Given the description of an element on the screen output the (x, y) to click on. 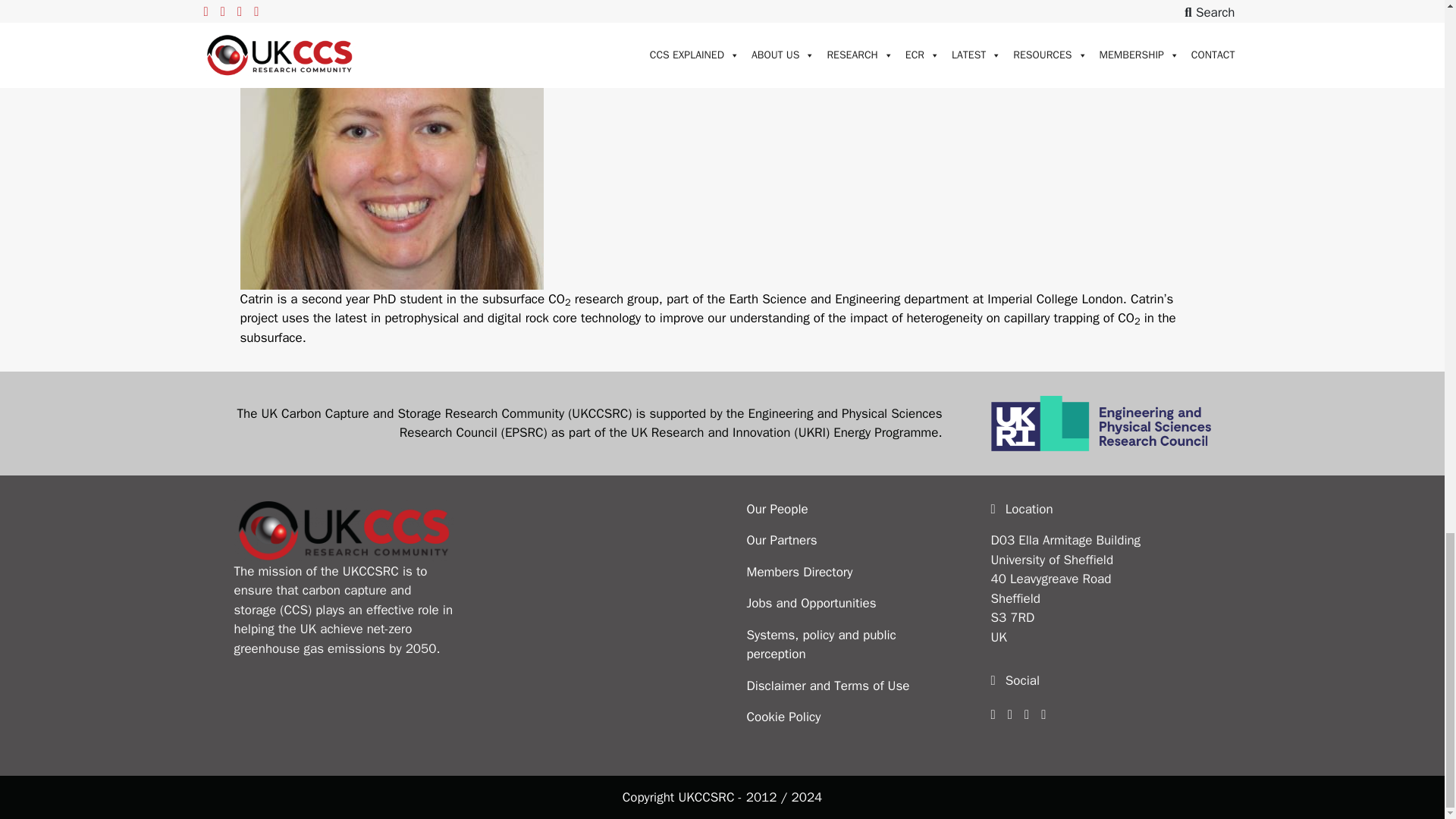
cropped-ukccsrcommunity.png (342, 530)
